Given the description of an element on the screen output the (x, y) to click on. 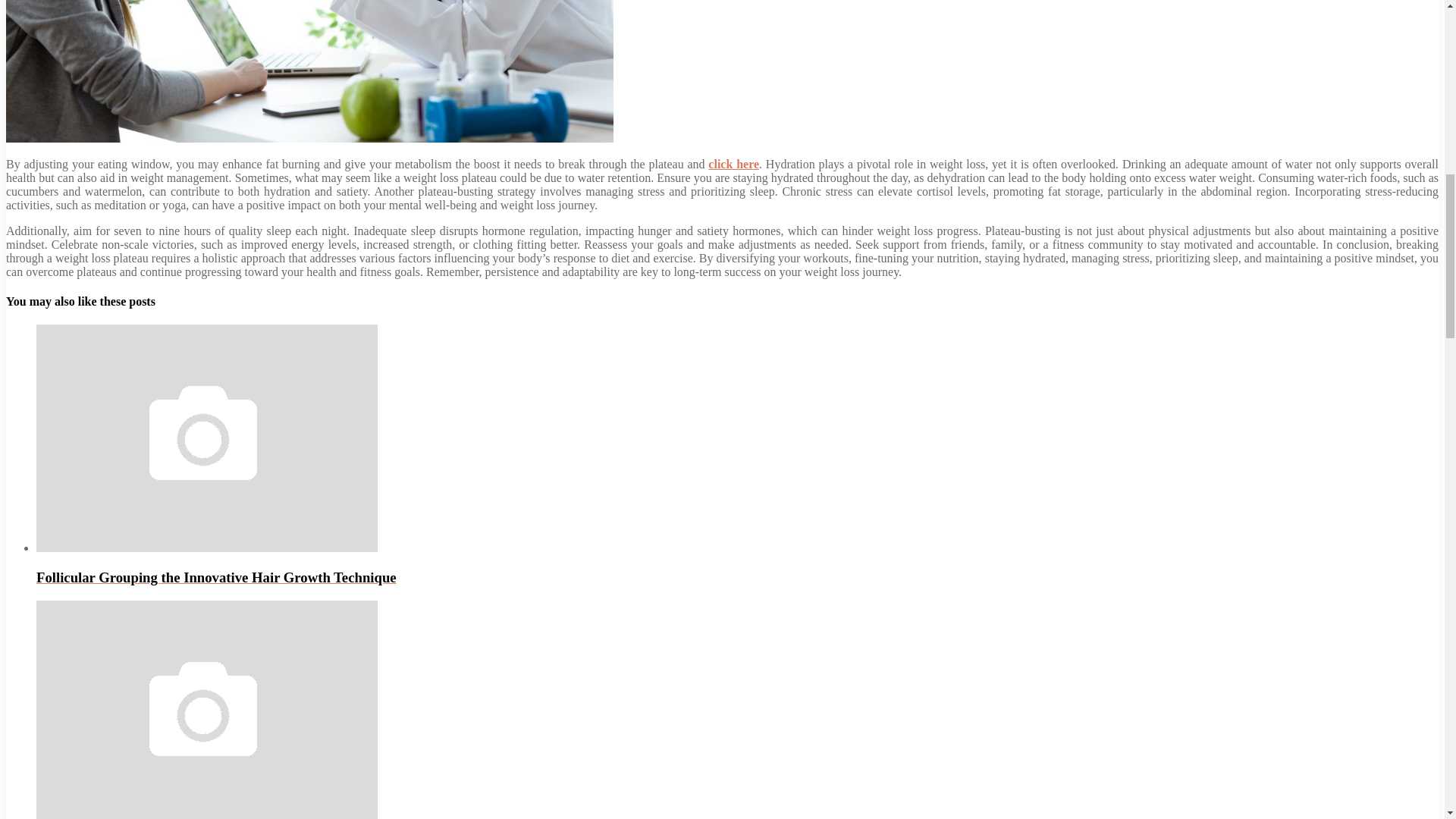
click here (732, 164)
